Given the description of an element on the screen output the (x, y) to click on. 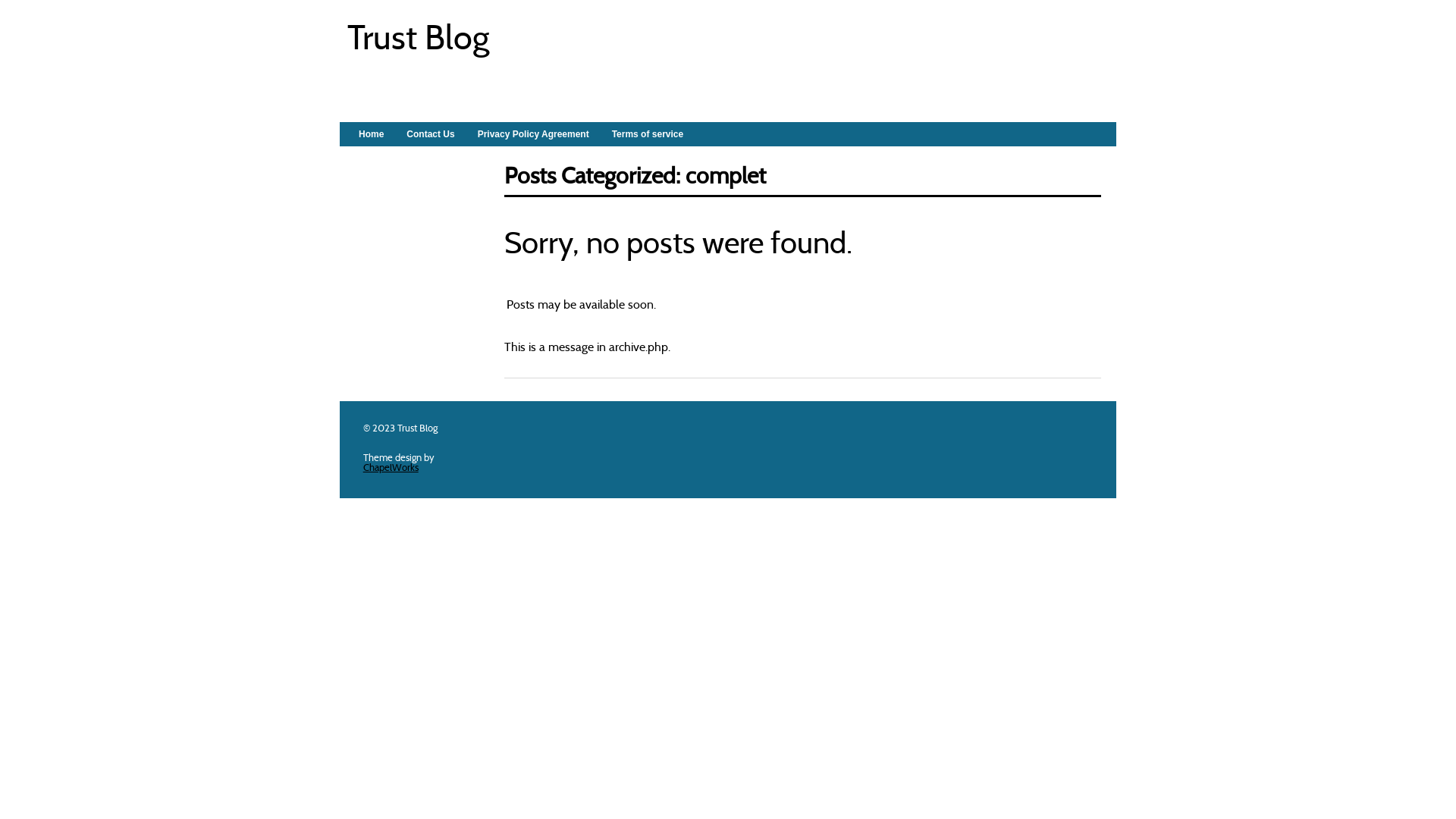
ChapelWorks Element type: text (390, 468)
Contact Us Element type: text (430, 134)
Trust Blog Element type: text (418, 40)
Privacy Policy Agreement Element type: text (533, 134)
Terms of service Element type: text (647, 134)
Home Element type: text (371, 134)
